Given the description of an element on the screen output the (x, y) to click on. 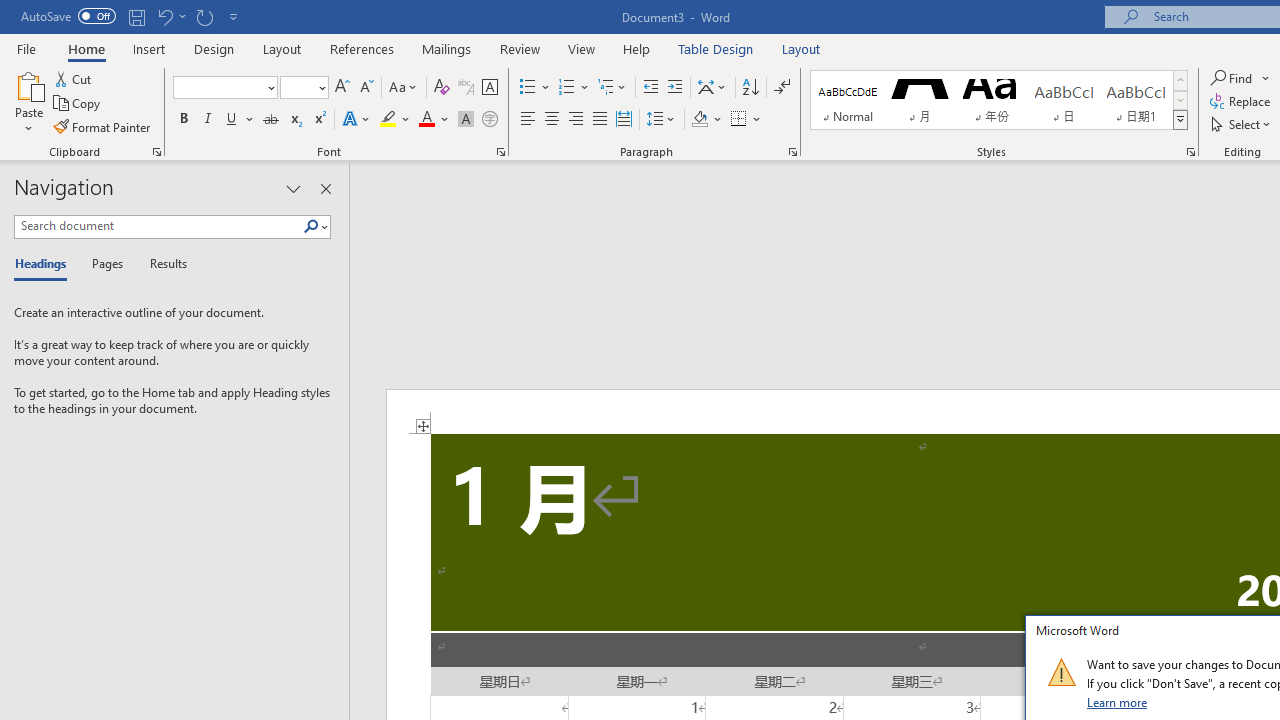
Undo Distribute Para (170, 15)
Format Painter (103, 126)
Justify (599, 119)
Show/Hide Editing Marks (781, 87)
Table Design (715, 48)
Repeat Distribute Para (204, 15)
